Given the description of an element on the screen output the (x, y) to click on. 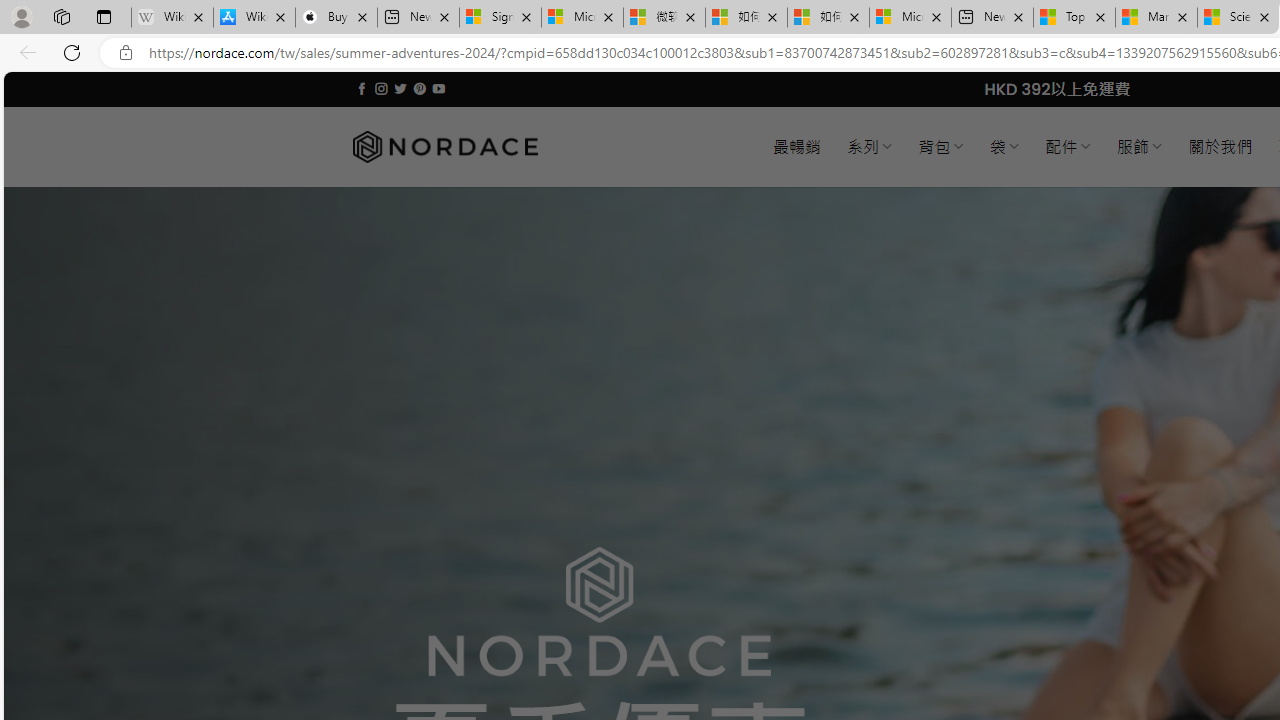
Wikipedia - Sleeping (171, 17)
Microsoft Services Agreement (582, 17)
Close tab (1264, 16)
Buy iPad - Apple (336, 17)
Nordace (444, 147)
Follow on Instagram (381, 88)
